Given the description of an element on the screen output the (x, y) to click on. 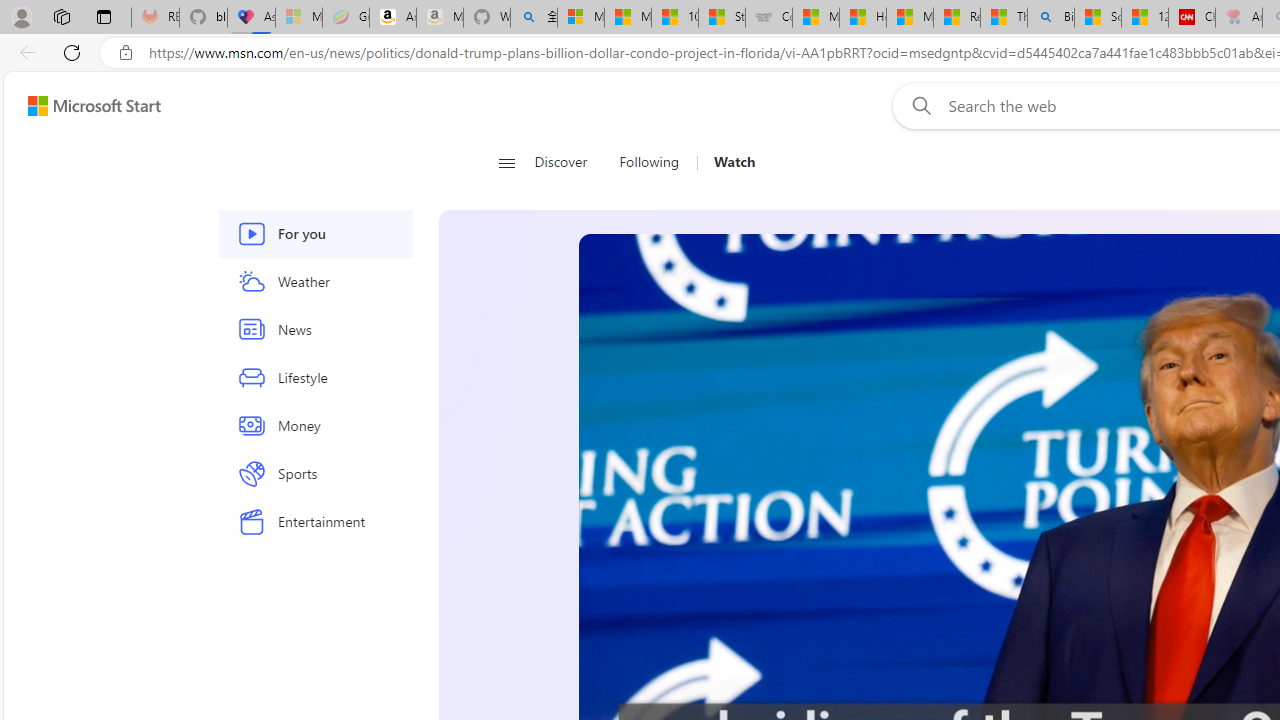
Watch (726, 162)
Recipes - MSN (957, 17)
Watch (734, 162)
Microsoft-Report a Concern to Bing - Sleeping (299, 17)
Arthritis: Ask Health Professionals - Sleeping (1239, 17)
Microsoft account | Privacy (581, 17)
Web search (917, 105)
Combat Siege (769, 17)
